Given the description of an element on the screen output the (x, y) to click on. 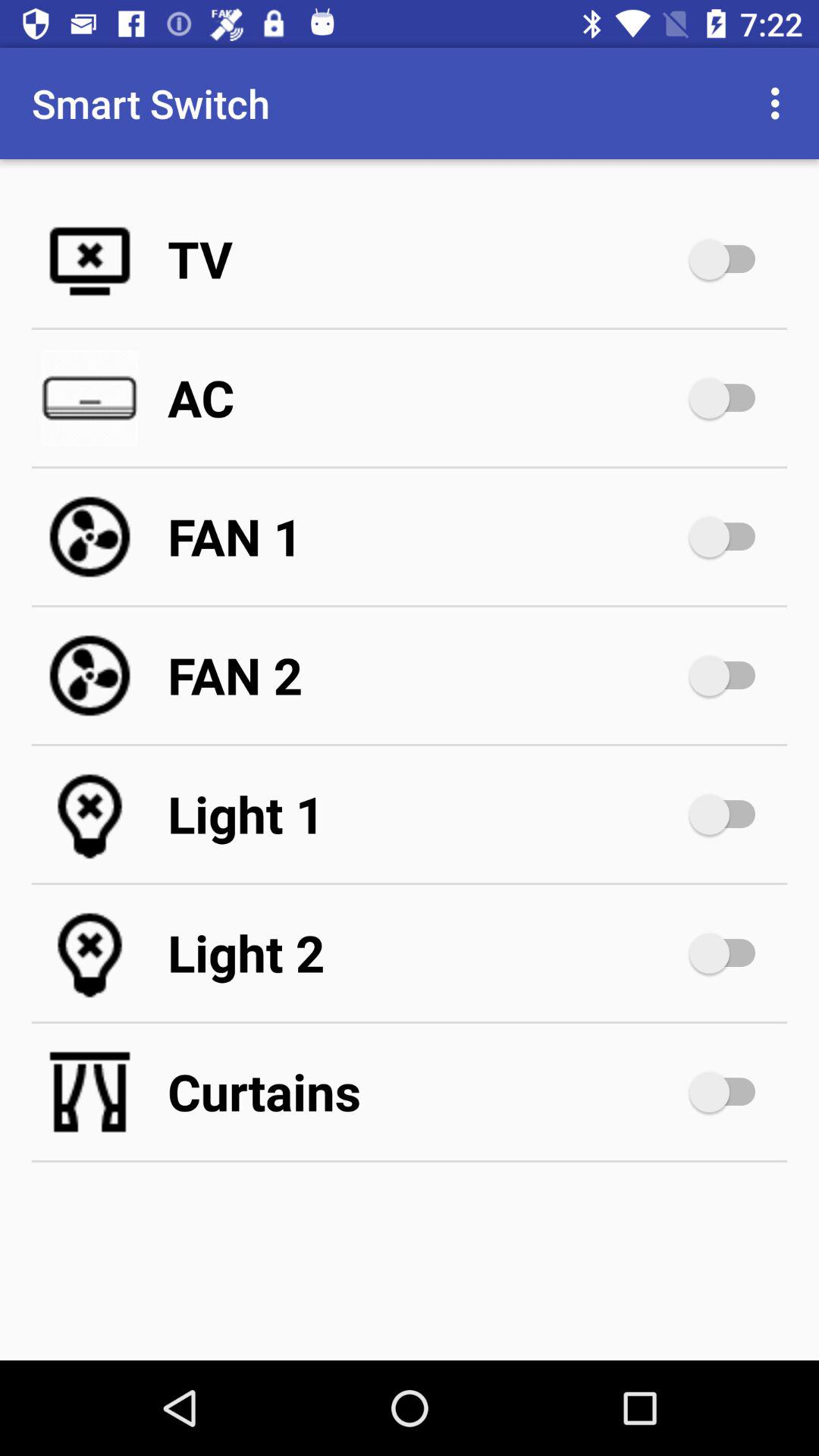
click icon above the light 1 item (424, 675)
